Given the description of an element on the screen output the (x, y) to click on. 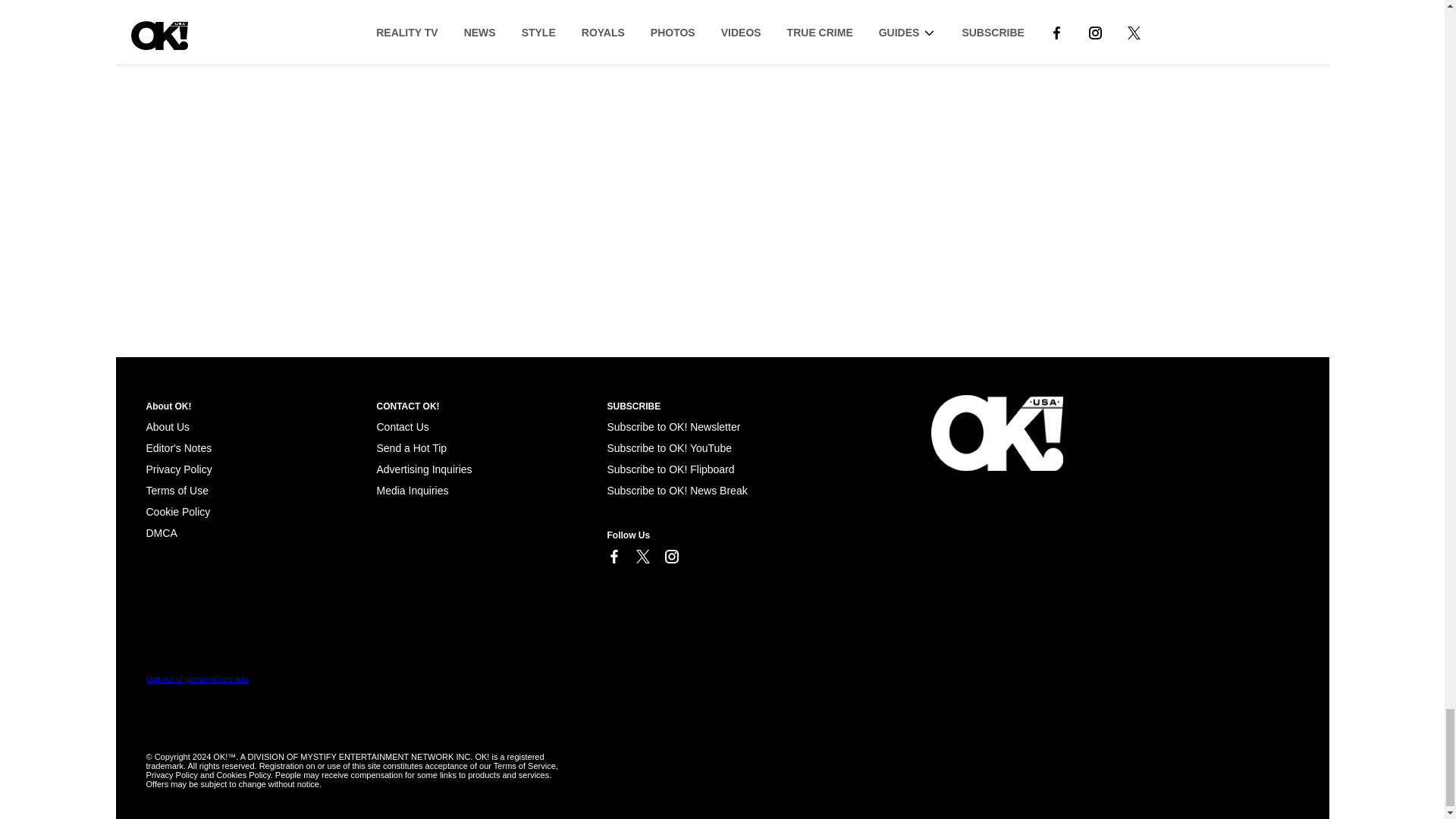
Link to X (641, 556)
Editor's Notes (178, 448)
Privacy Policy (178, 469)
Contact Us (401, 426)
Cookie Policy (177, 511)
Link to Instagram (670, 556)
Cookie Policy (160, 532)
Terms of Use (176, 490)
Link to Facebook (613, 556)
About Us (167, 426)
